Given the description of an element on the screen output the (x, y) to click on. 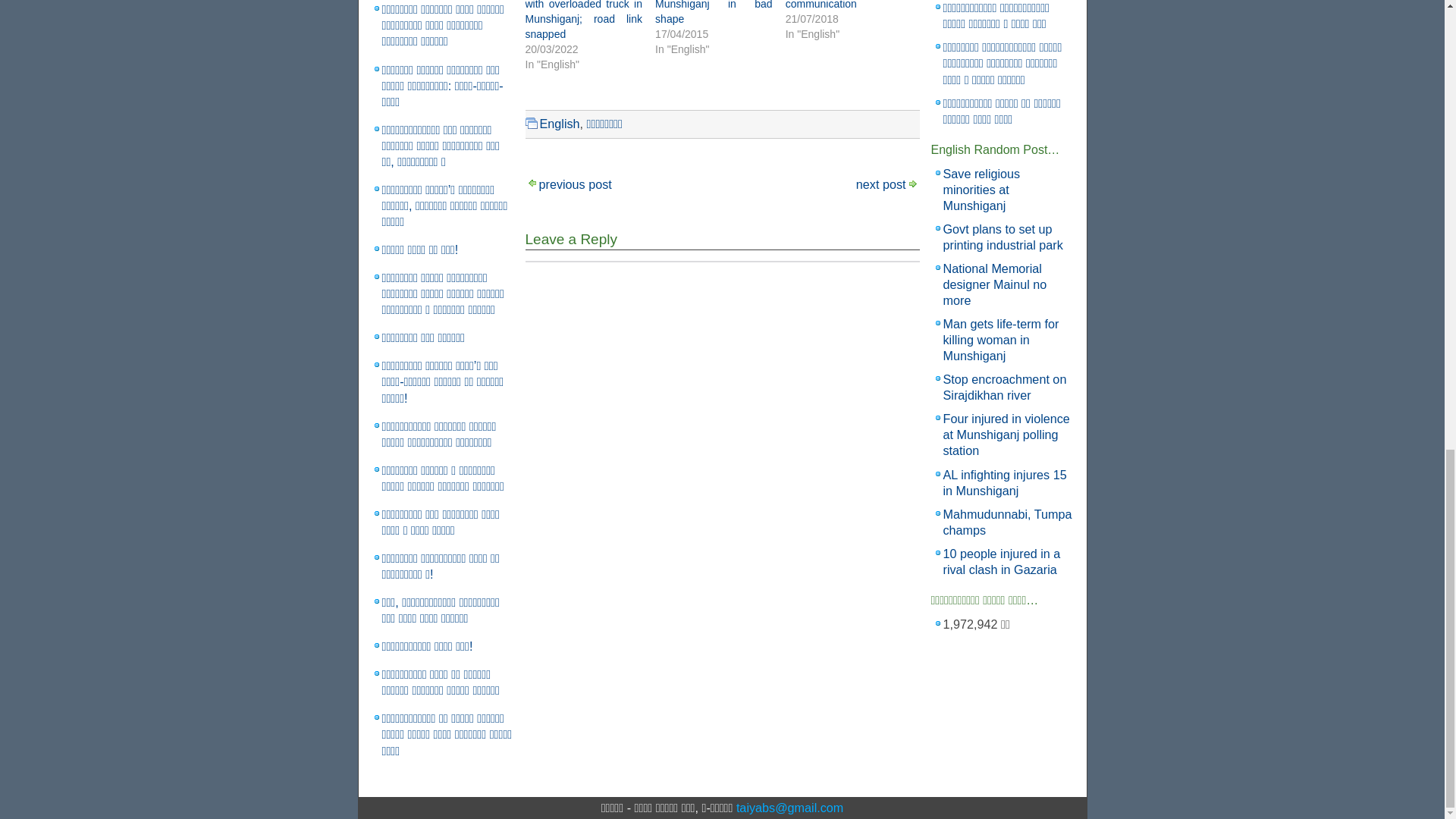
Bridge collapse snaps communication (844, 4)
84 bailey bridges across Munshiganj in bad shape (713, 12)
English (559, 123)
Bridge collapse snaps communication (844, 4)
84 bailey bridges across Munshiganj in bad shape (713, 12)
